Given the description of an element on the screen output the (x, y) to click on. 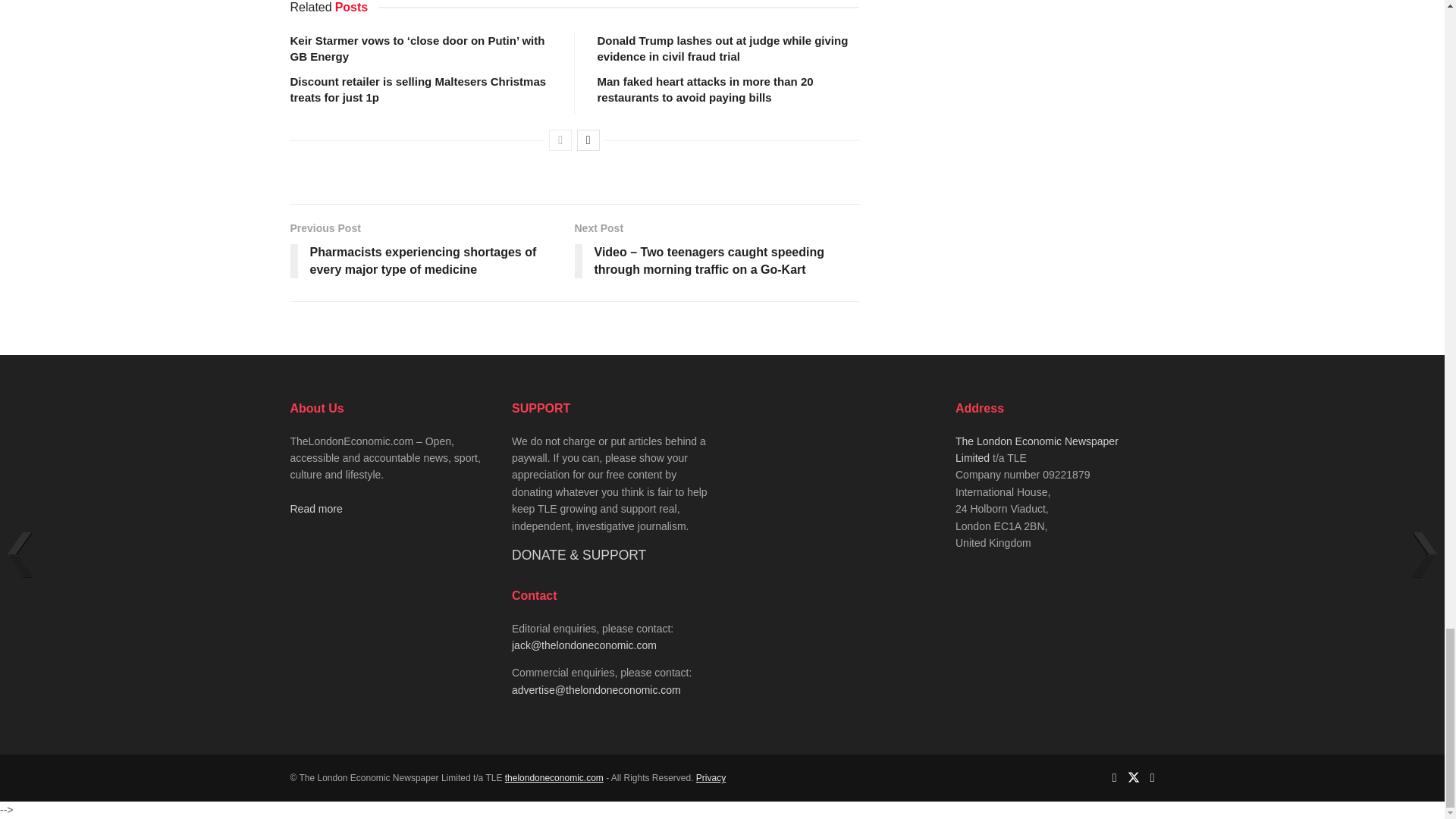
The London Economic (554, 777)
Next (587, 139)
Previous (560, 139)
Privacy (710, 777)
